Given the description of an element on the screen output the (x, y) to click on. 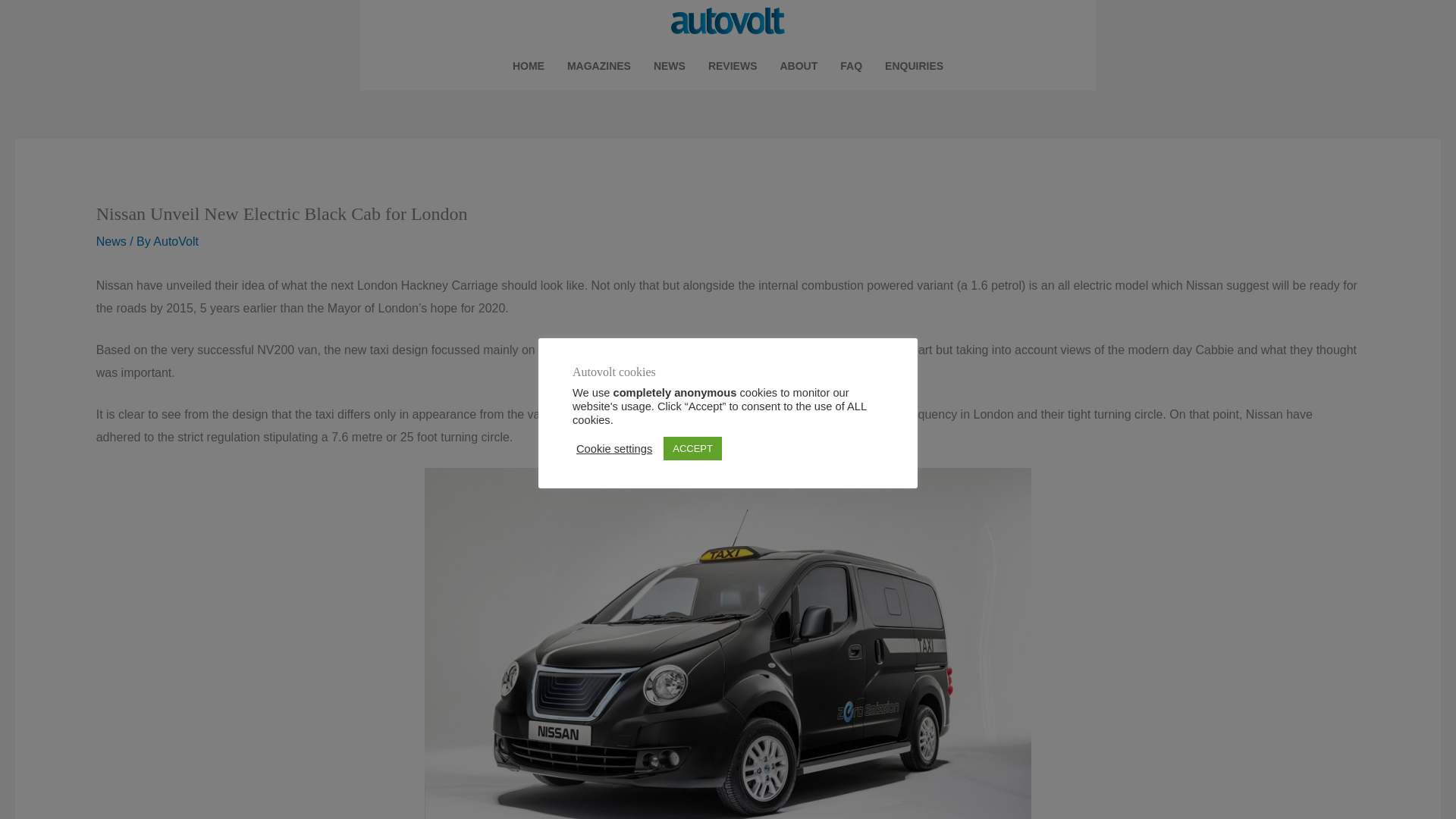
Get Autovolt in print and digital (599, 65)
Home of Autovolt, the electric and hybrid vehicle magazine (528, 65)
FAQ (850, 65)
HOME (528, 65)
MAGAZINES (599, 65)
The latest news from Autovolt (669, 65)
News (111, 241)
ENQUIRIES (914, 65)
ABOUT (798, 65)
Contact Autovolt (914, 65)
